Given the description of an element on the screen output the (x, y) to click on. 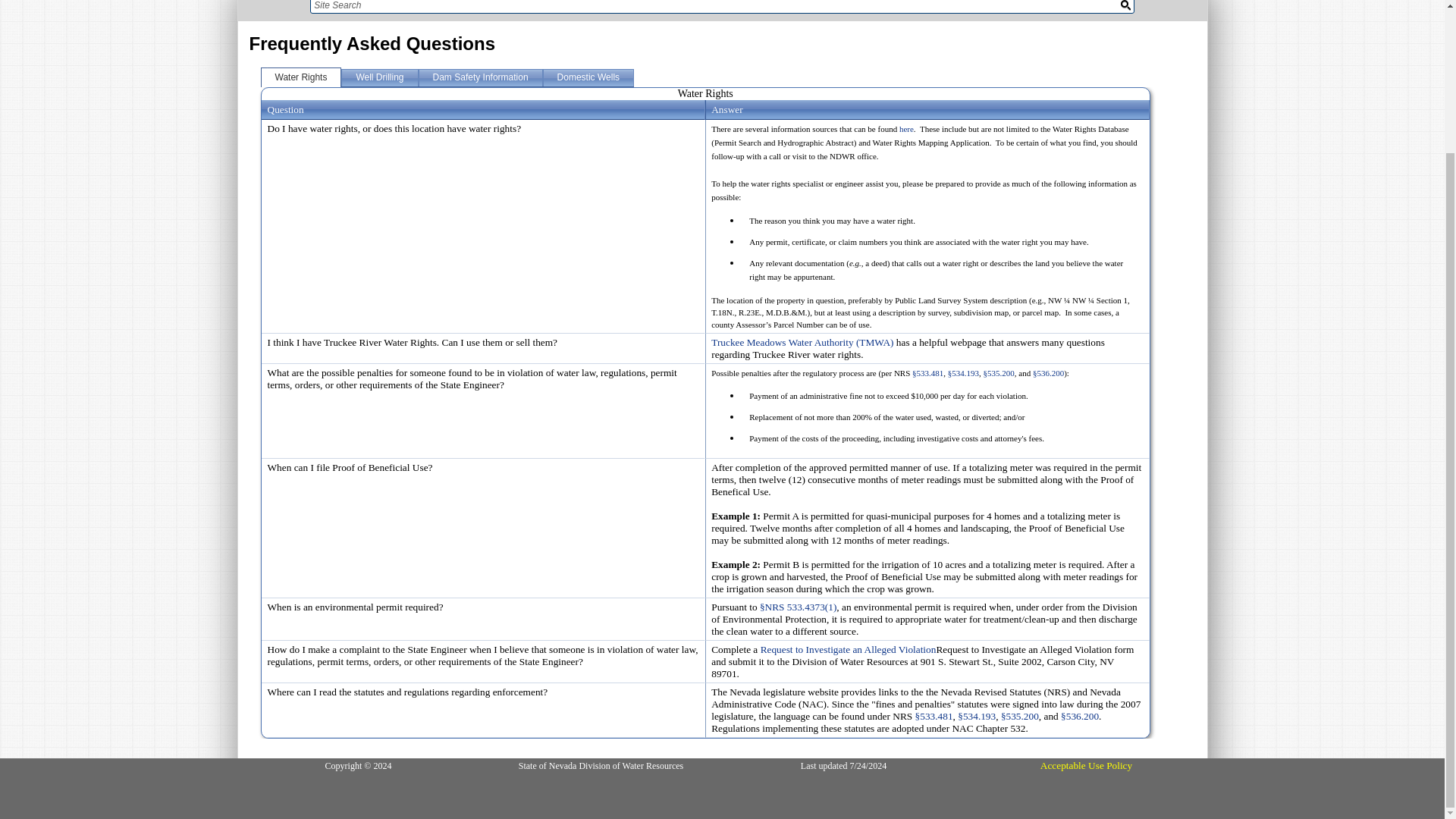
Dam Safety Information (481, 76)
Request to Investigate an Alleged Violation (848, 649)
Site Search (708, 6)
Acceptable Use Policy (1086, 765)
Question (284, 109)
Water Rights (301, 76)
Domestic Wells (588, 76)
here (906, 128)
Well Drilling (378, 76)
Click here to sort (284, 109)
